Given the description of an element on the screen output the (x, y) to click on. 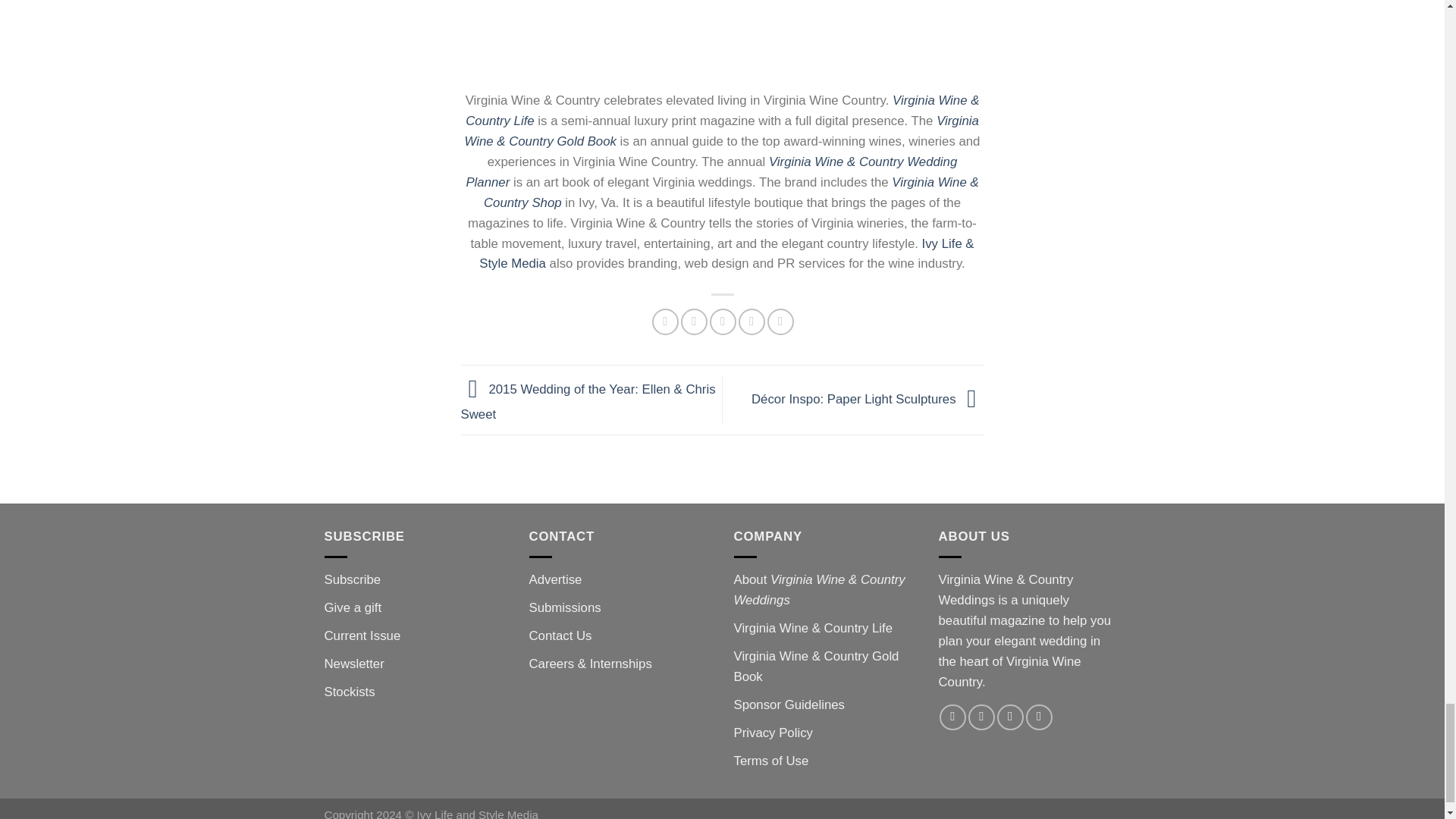
Share on Facebook (665, 321)
Share on Twitter (694, 321)
Follow on Pinterest (1039, 717)
Share on LinkedIn (780, 321)
Pin on Pinterest (751, 321)
Follow on Instagram (981, 717)
Email to a Friend (723, 321)
Follow on Facebook (952, 717)
Send us an email (1010, 717)
